Given the description of an element on the screen output the (x, y) to click on. 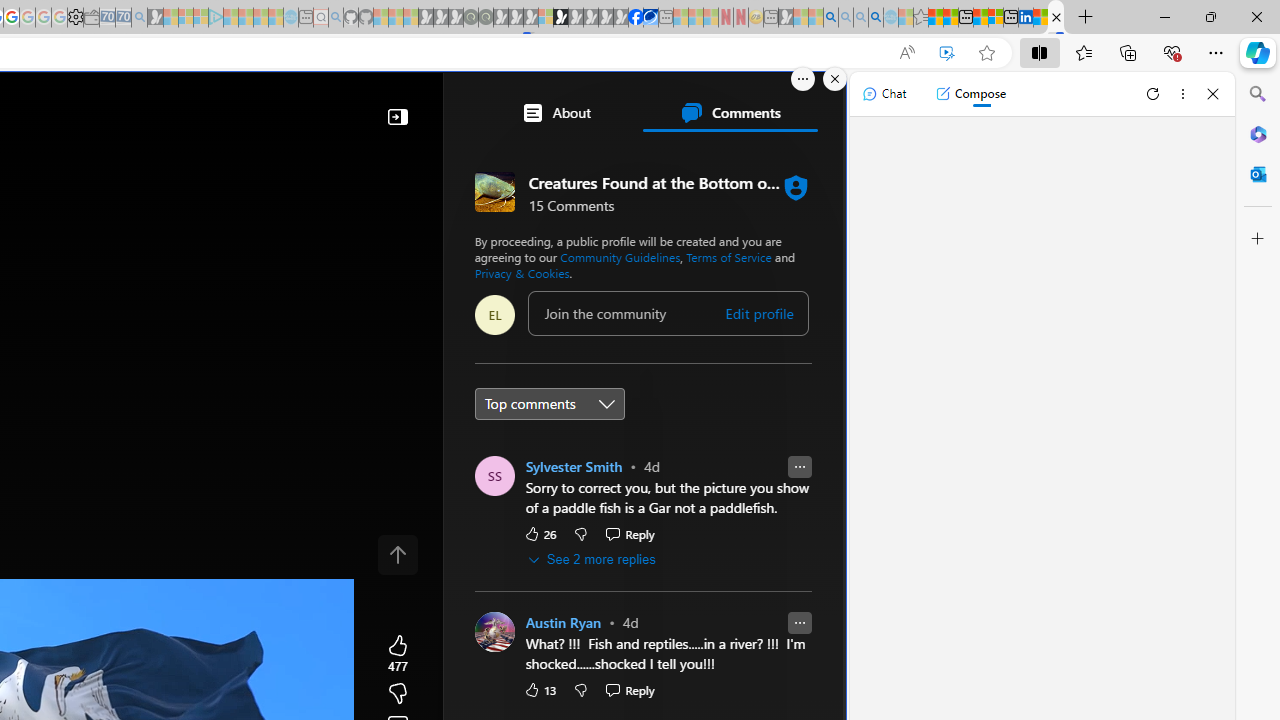
13 Like (539, 690)
Personalize (706, 162)
See 2 more replies (592, 560)
